Given the description of an element on the screen output the (x, y) to click on. 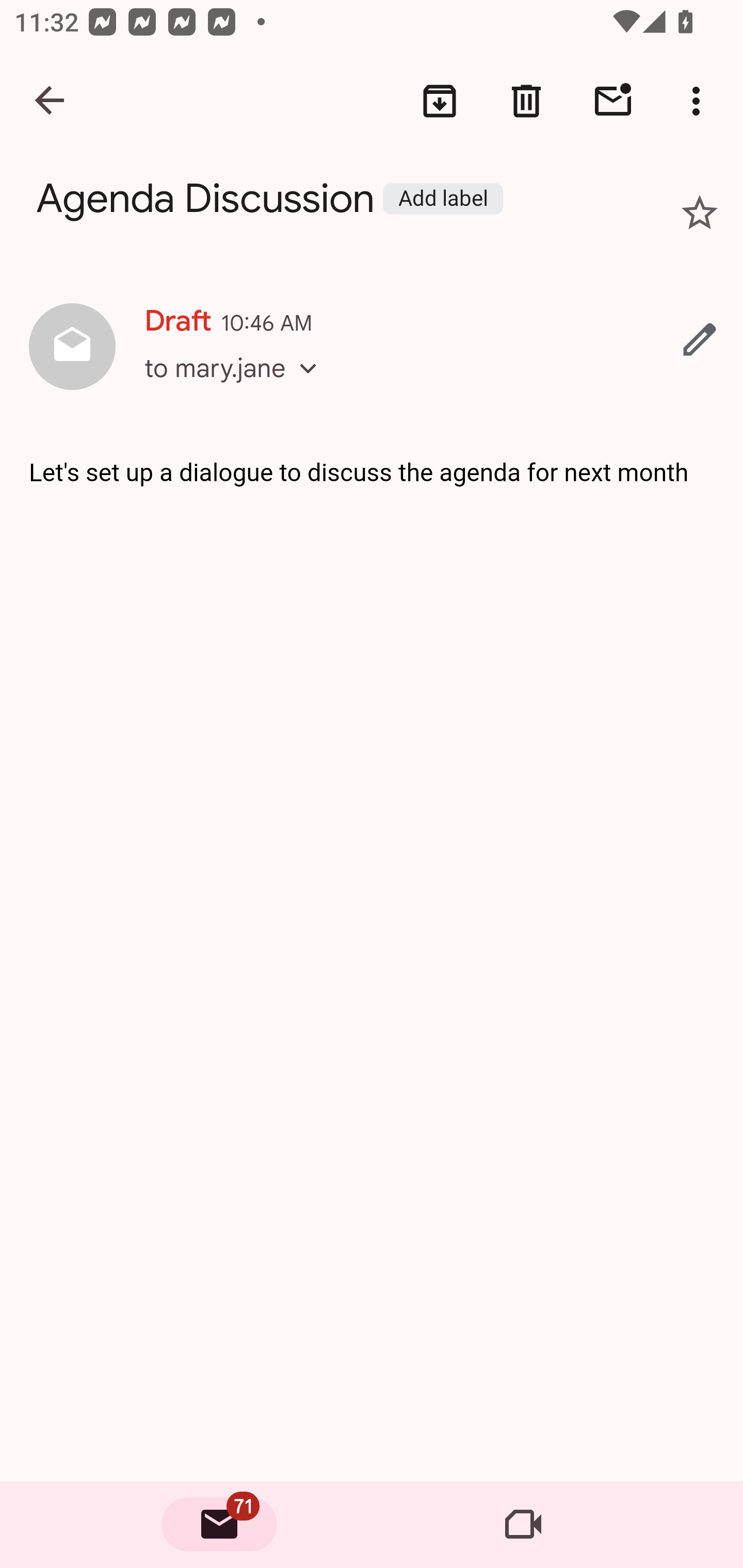
Navigate up (50, 101)
Archive (439, 101)
Discard drafts (525, 101)
Mark unread (612, 101)
More options (699, 101)
Draft 10:46 AM to mary.jane Edit (371, 347)
Edit (699, 339)
to mary.jane (236, 386)
Meet (523, 1524)
